Given the description of an element on the screen output the (x, y) to click on. 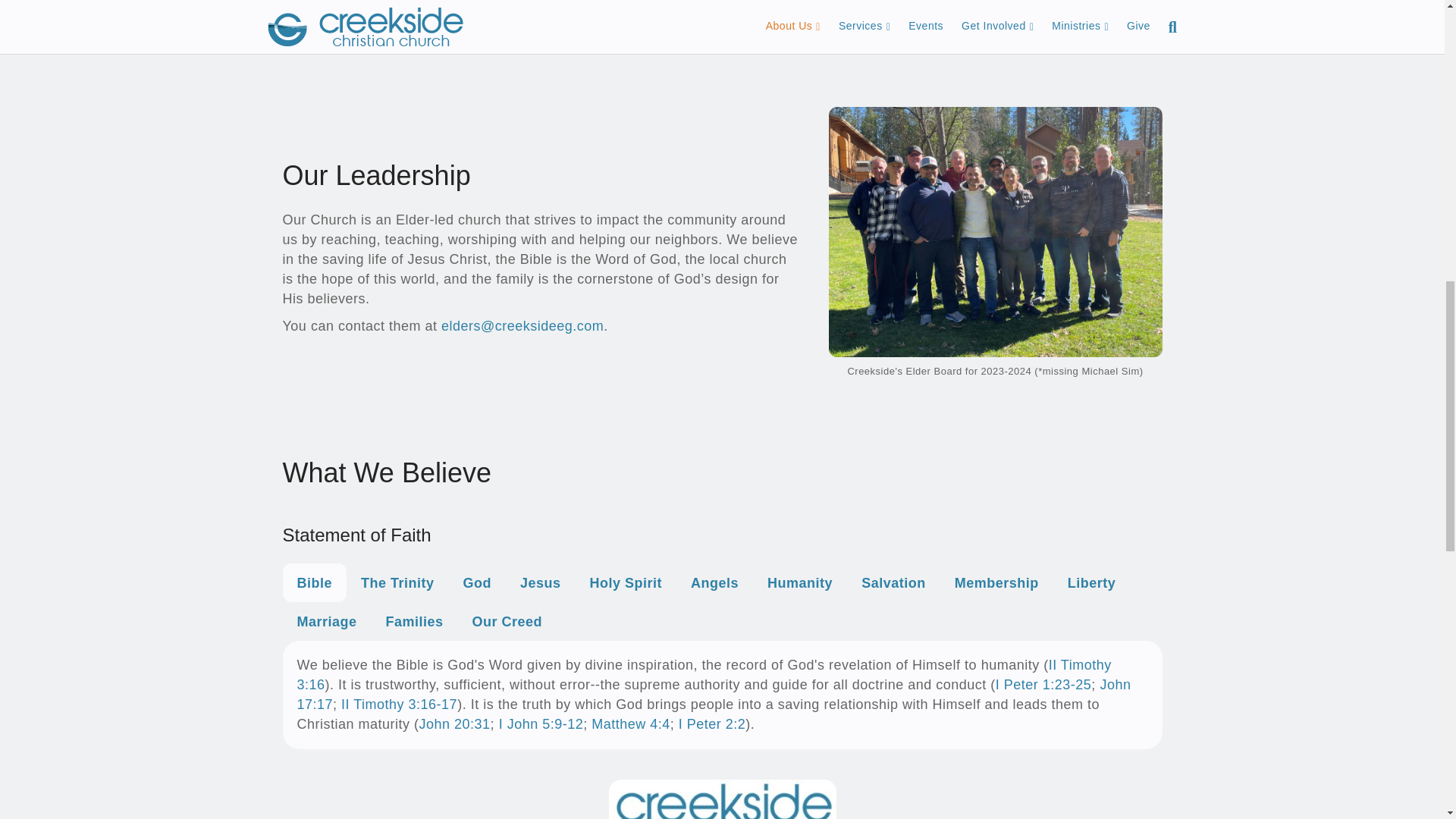
The Trinity (397, 582)
Holy Spirit (626, 582)
Centennial Logo (721, 799)
2023-2024 Elders (994, 232)
Bible (314, 582)
Jesus (540, 582)
God (477, 582)
